Given the description of an element on the screen output the (x, y) to click on. 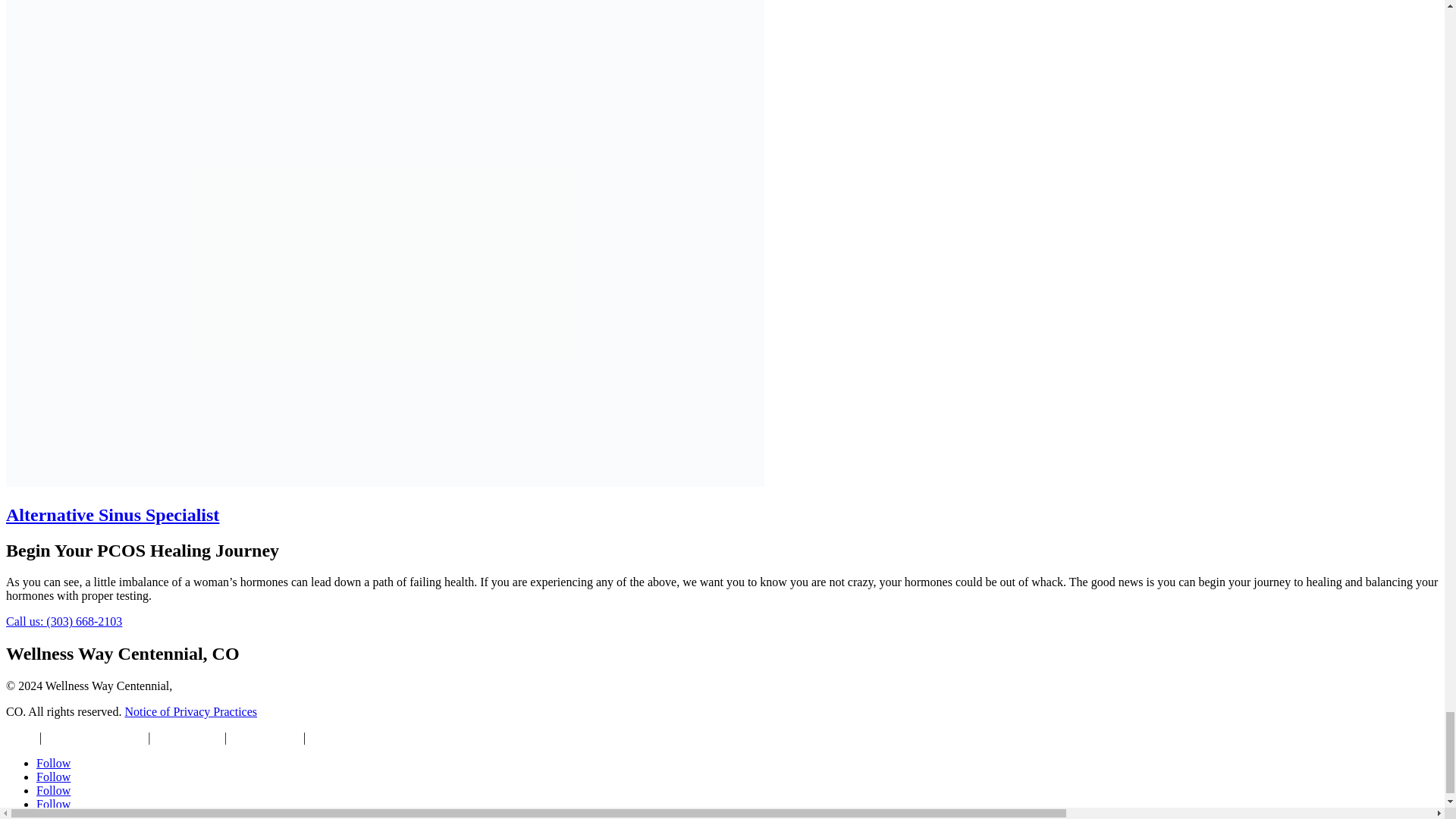
Follow on Twitter (52, 776)
Follow on Youtube (52, 803)
Follow on Instagram (52, 789)
Follow on Facebook (52, 762)
